Given the description of an element on the screen output the (x, y) to click on. 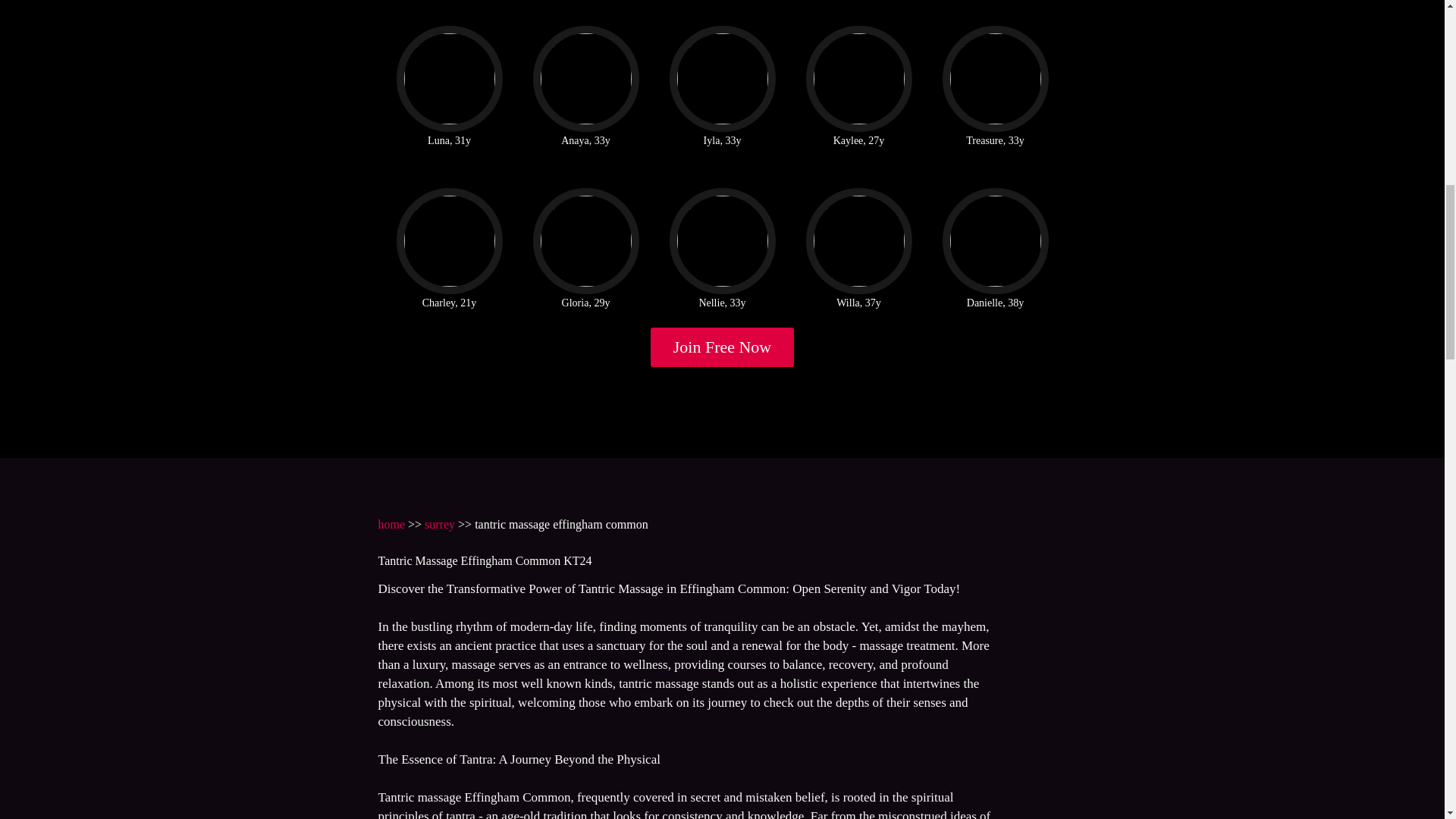
Join Free Now (722, 346)
Join (722, 346)
home (390, 523)
surrey (439, 523)
